Given the description of an element on the screen output the (x, y) to click on. 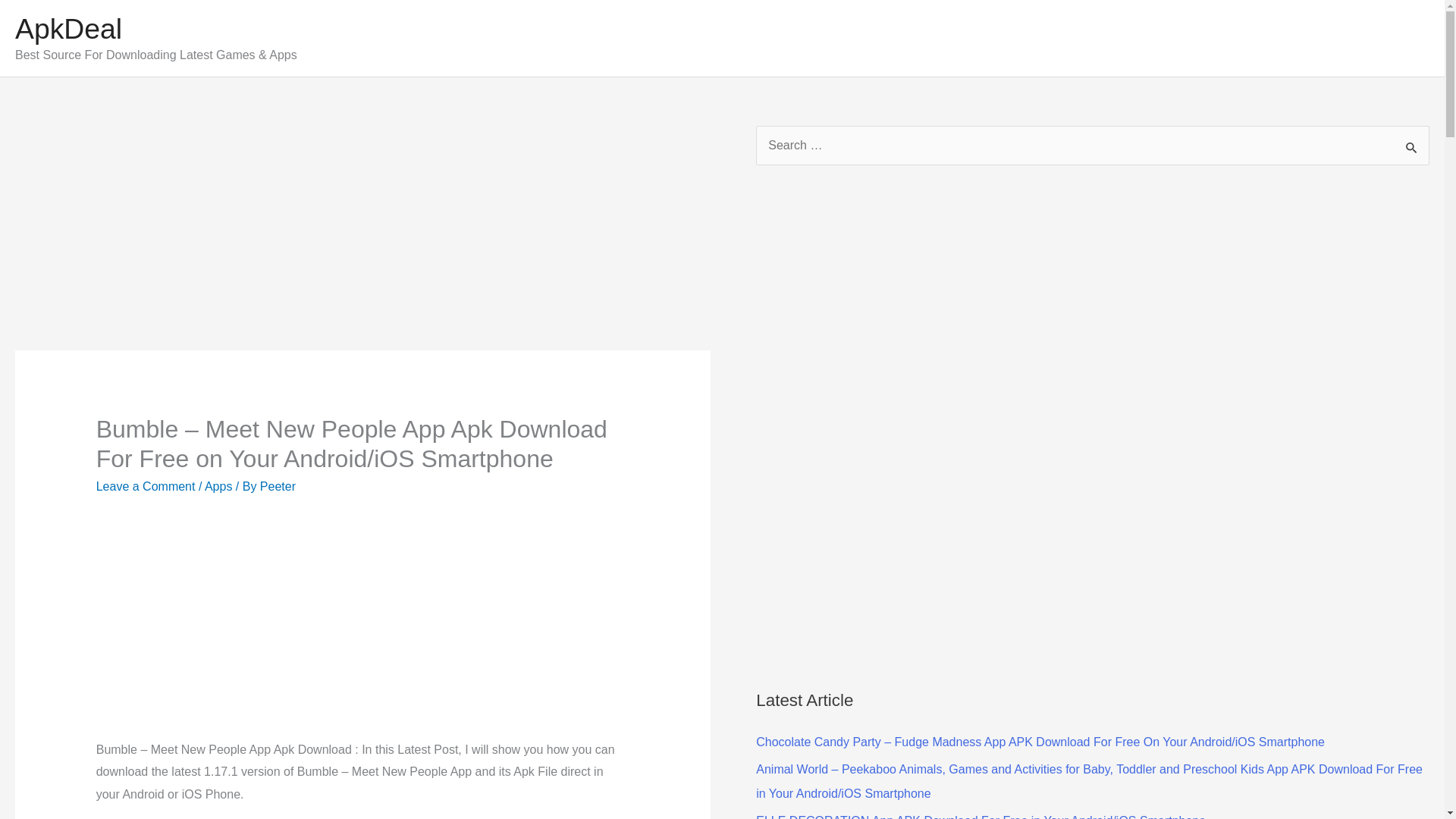
Leave a Comment (145, 486)
Search (1411, 147)
Search (1411, 147)
View all posts by Peeter (277, 486)
Apps (218, 486)
Peeter (277, 486)
ApkDeal (68, 29)
Search (1411, 147)
